Given the description of an element on the screen output the (x, y) to click on. 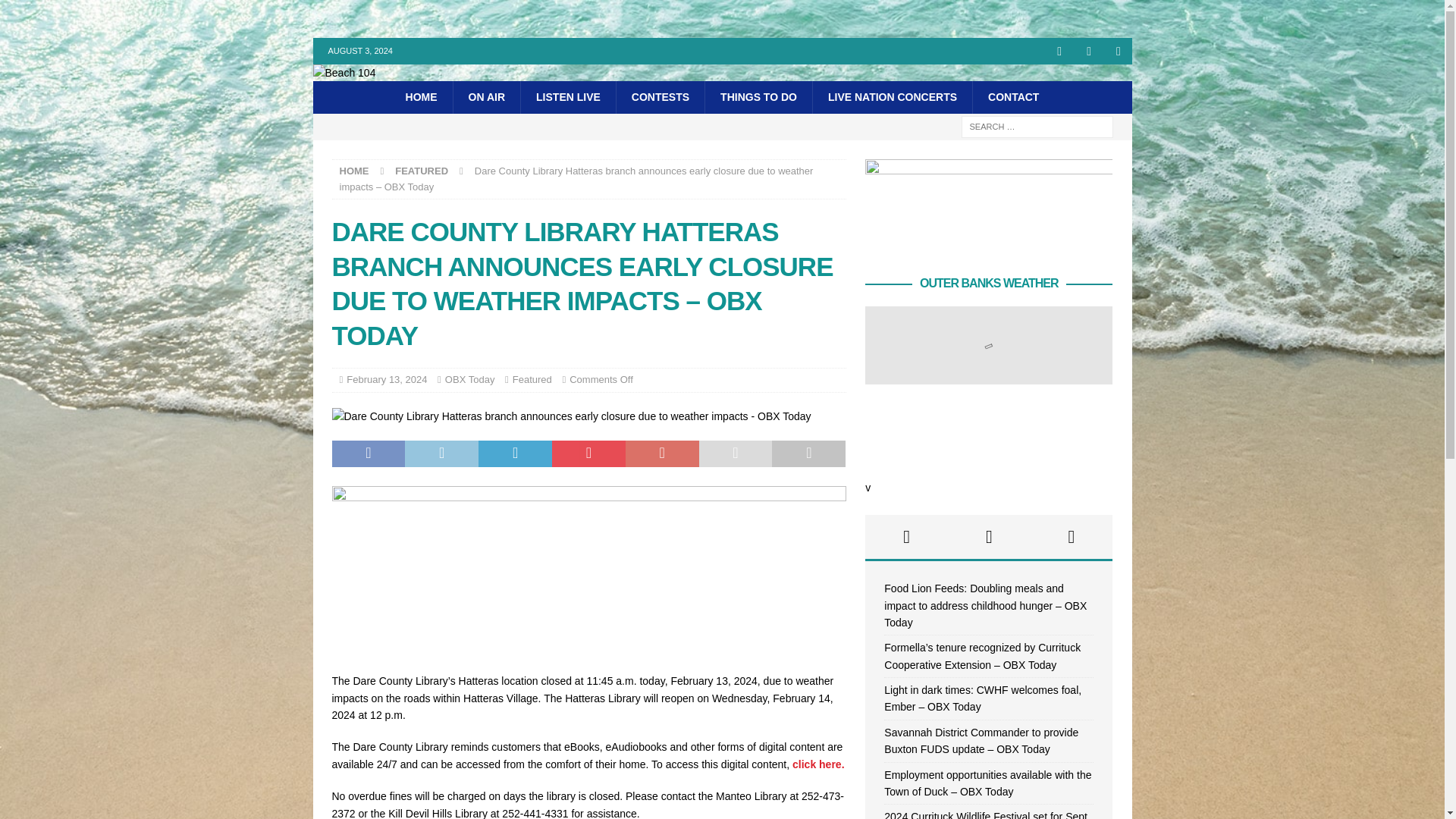
image (588, 648)
HOME (421, 97)
CONTESTS (659, 97)
Beach 104 (344, 72)
HOME (354, 170)
Featured (531, 378)
CONTACT (1013, 97)
LISTEN LIVE (567, 97)
OBX Today (470, 378)
THINGS TO DO (758, 97)
click here. (818, 764)
LIVE NATION CONCERTS (892, 97)
ON AIR (485, 97)
February 13, 2024 (386, 378)
